Given the description of an element on the screen output the (x, y) to click on. 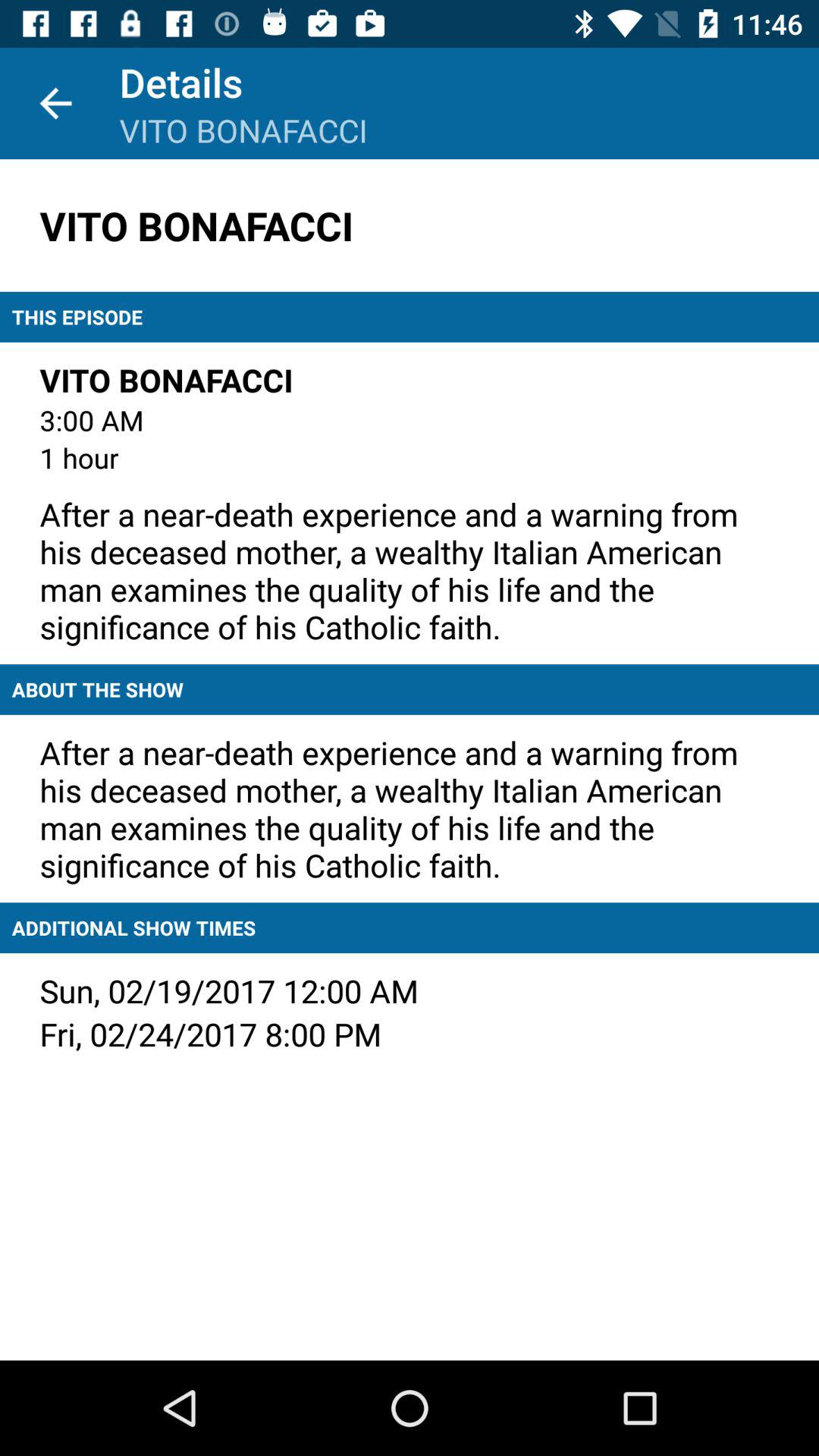
press the app to the left of the details (55, 103)
